Given the description of an element on the screen output the (x, y) to click on. 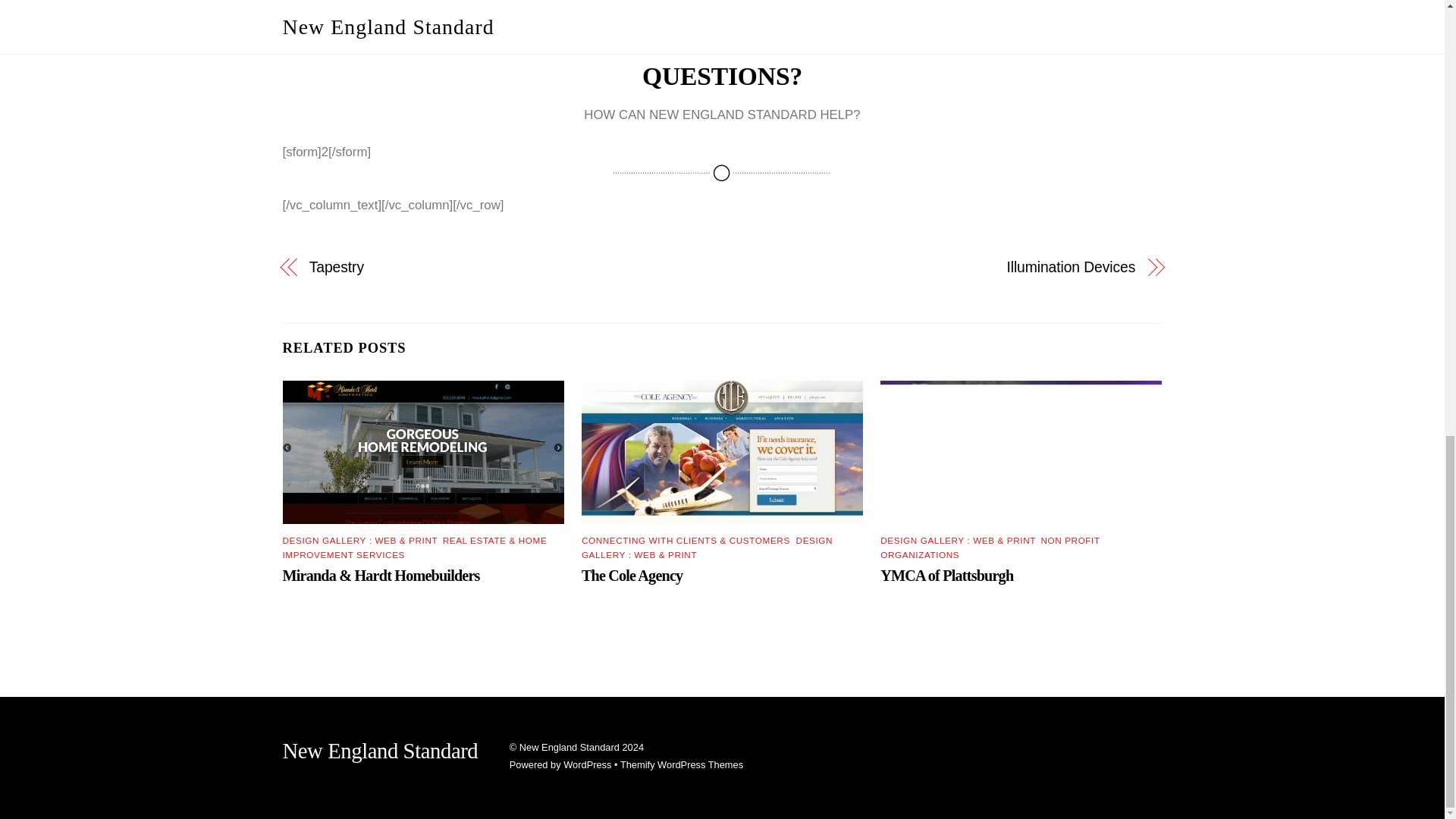
The Cole Agency (631, 575)
Themify WordPress Themes (681, 764)
New England Standard (379, 750)
NES-g-MIRANDA (422, 451)
NES-g-YMCA (1020, 451)
Tapestry (501, 267)
Illumination Devices (941, 267)
WordPress (587, 764)
New England Standard (569, 747)
NES-g-COLE (721, 451)
